Given the description of an element on the screen output the (x, y) to click on. 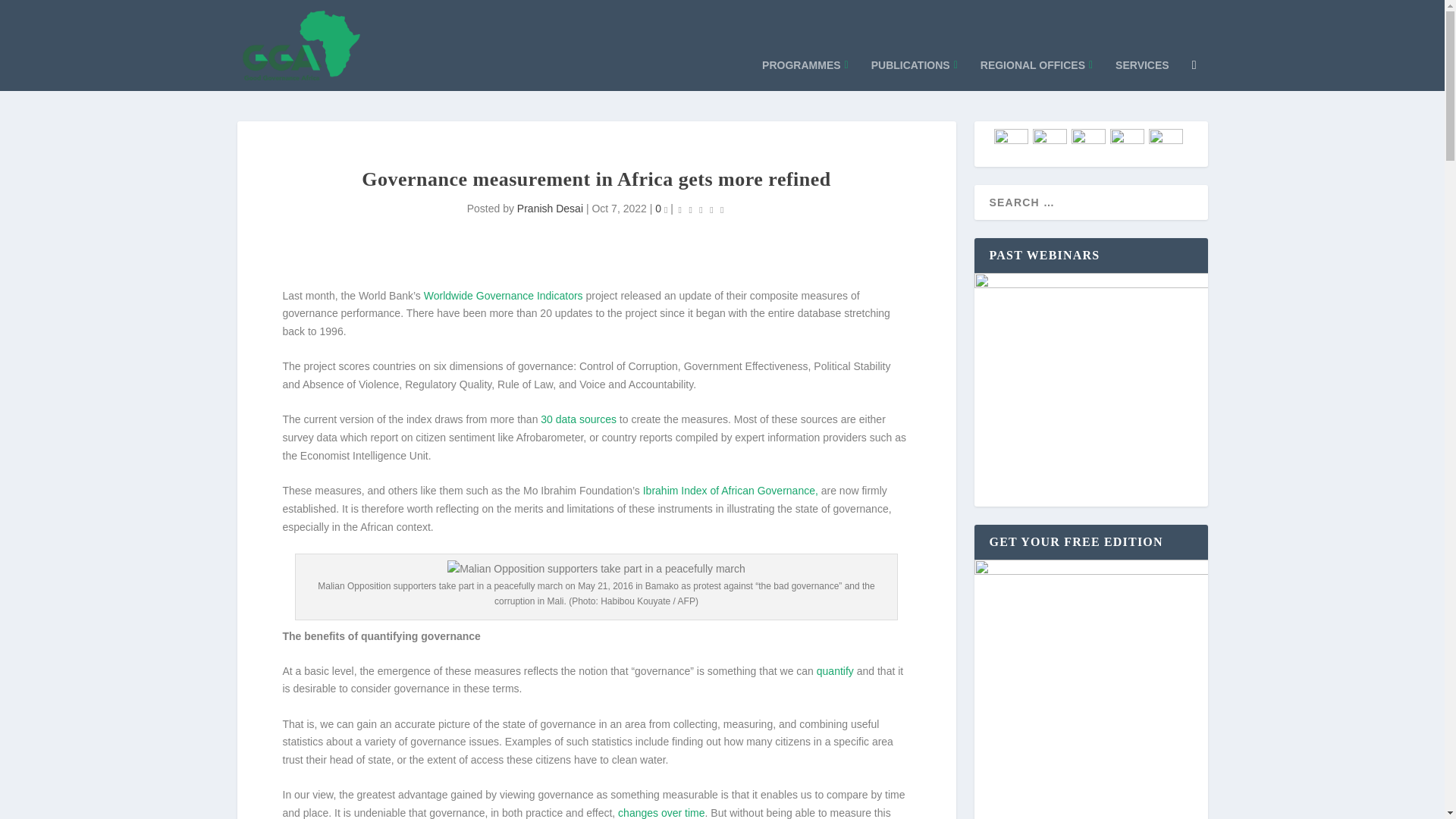
Posts by Pranish Desai (549, 208)
SERVICES (1142, 68)
0 (660, 208)
PROGRAMMES (804, 68)
Worldwide Governance Indicators (503, 295)
quantify (834, 671)
REGIONAL OFFICES (1036, 68)
Rating: 0.00 (701, 209)
Ibrahim Index of African Governance, (730, 490)
PUBLICATIONS (914, 68)
Pranish Desai (549, 208)
30 data sources (577, 419)
changes over time (660, 812)
